Given the description of an element on the screen output the (x, y) to click on. 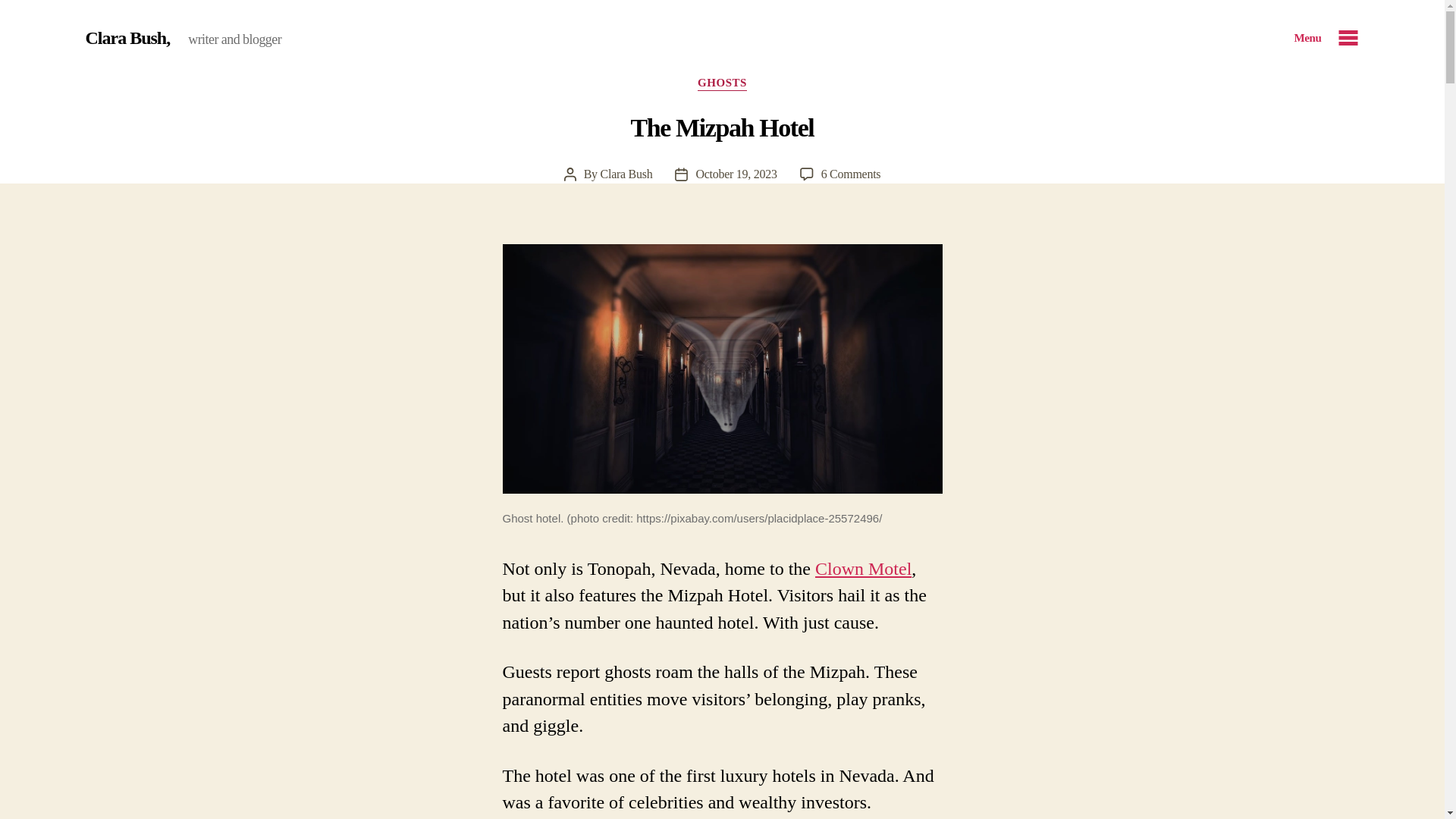
Menu (1326, 37)
Clara Bush (850, 173)
Clara Bush (625, 173)
GHOSTS (127, 37)
October 19, 2023 (721, 83)
Clown Motel (735, 173)
